Given the description of an element on the screen output the (x, y) to click on. 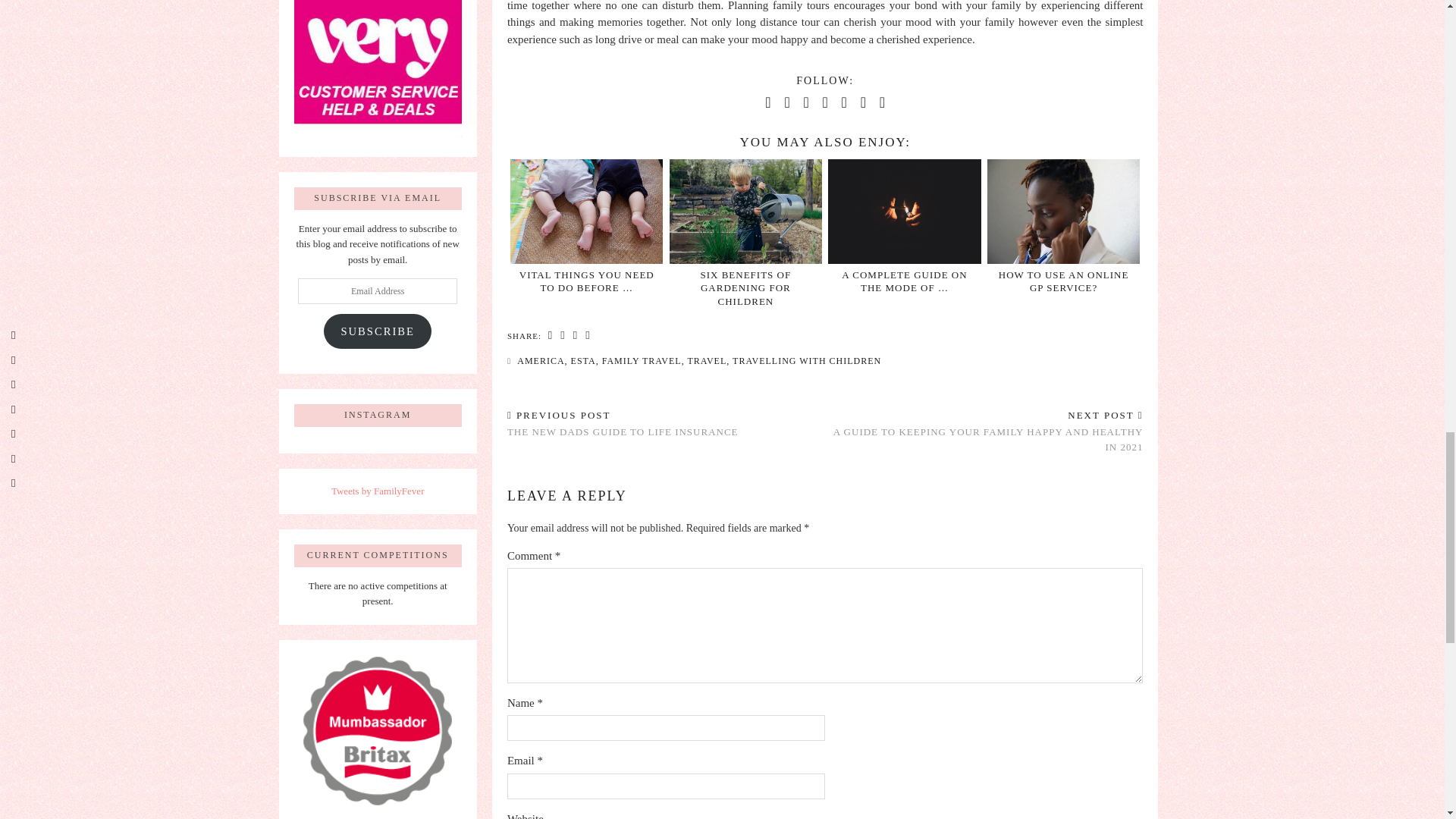
Six benefits of gardening for children (745, 210)
Six benefits of gardening for children (745, 288)
